Given the description of an element on the screen output the (x, y) to click on. 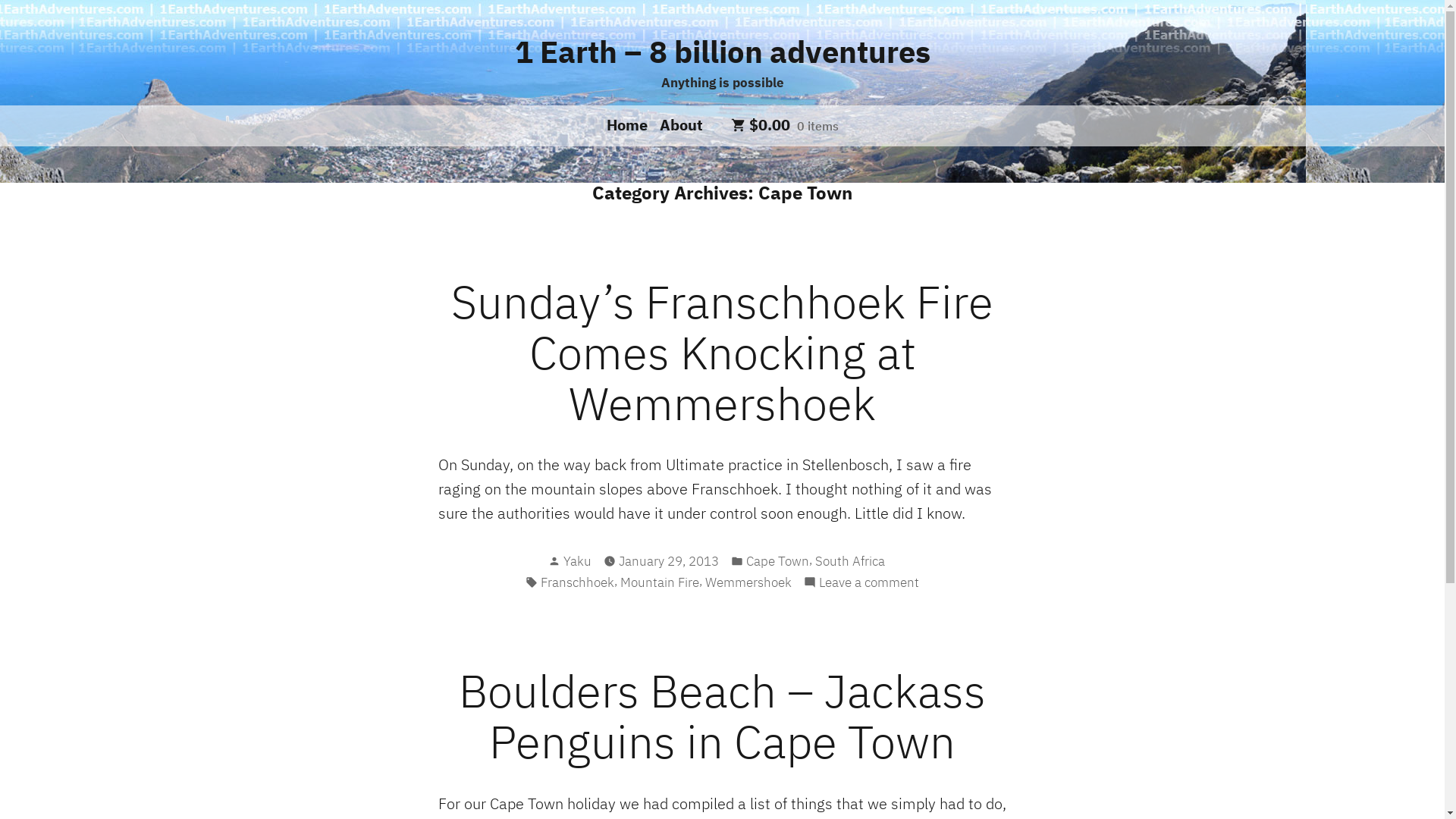
About Element type: text (677, 124)
Cape Town Element type: text (777, 561)
Yaku Element type: text (576, 560)
Franschhoek Element type: text (577, 582)
Wemmershoek Element type: text (748, 582)
$0.00 0 items Element type: text (784, 125)
Mountain Fire Element type: text (659, 582)
South Africa Element type: text (849, 561)
January 29, 2013 Element type: text (668, 561)
Home Element type: text (629, 124)
